Given the description of an element on the screen output the (x, y) to click on. 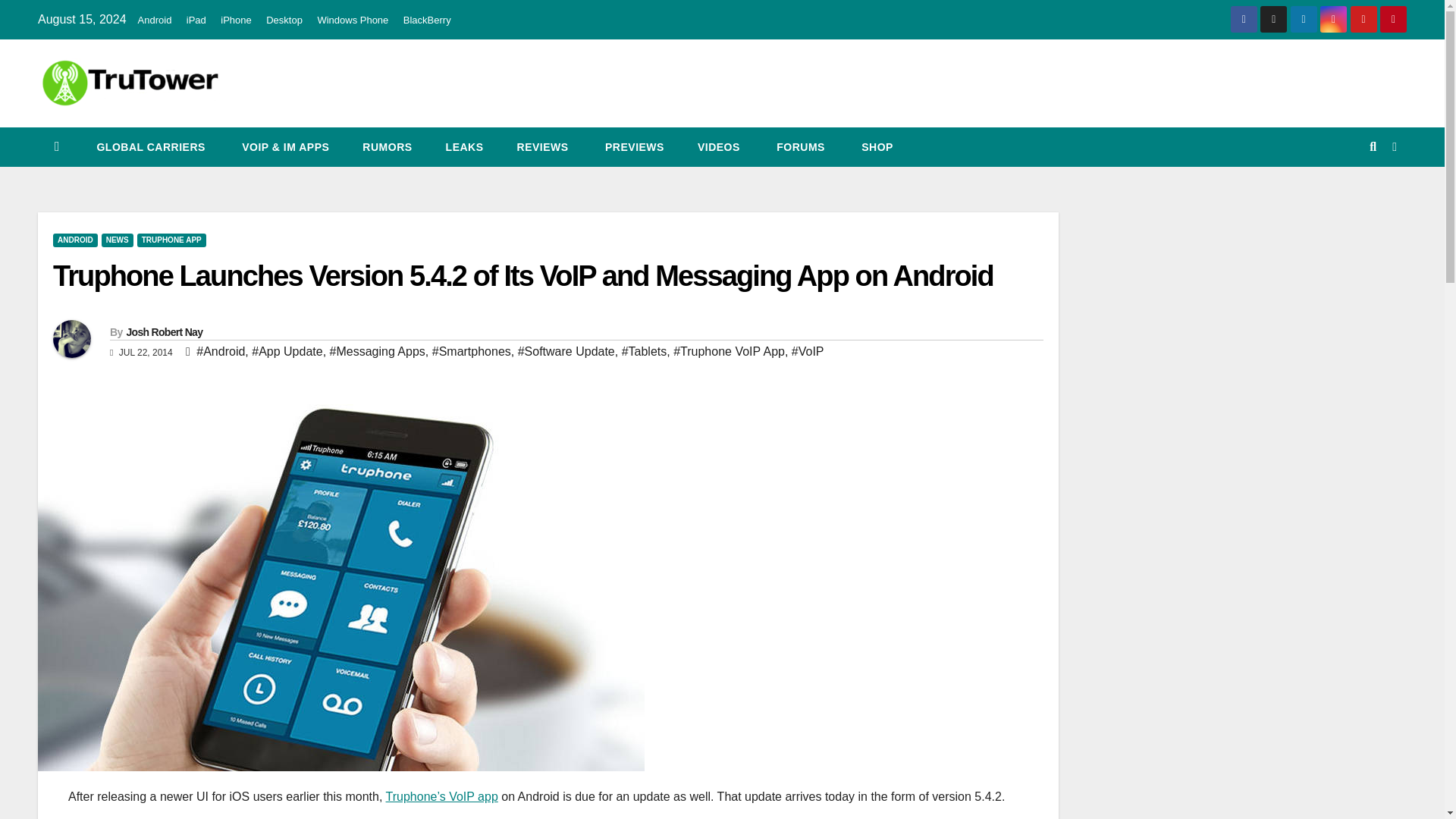
ANDROID (74, 240)
 SHOP (875, 147)
Josh Robert Nay (163, 331)
Unlocked GSM Phones and Accessories (875, 147)
Application, Tablet, Cellular Previews (633, 147)
Social, technology forums, community (799, 147)
GSM Roaming, International Phone Service, Travel SIM Cards (149, 147)
TRUPHONE APP (171, 240)
